Given the description of an element on the screen output the (x, y) to click on. 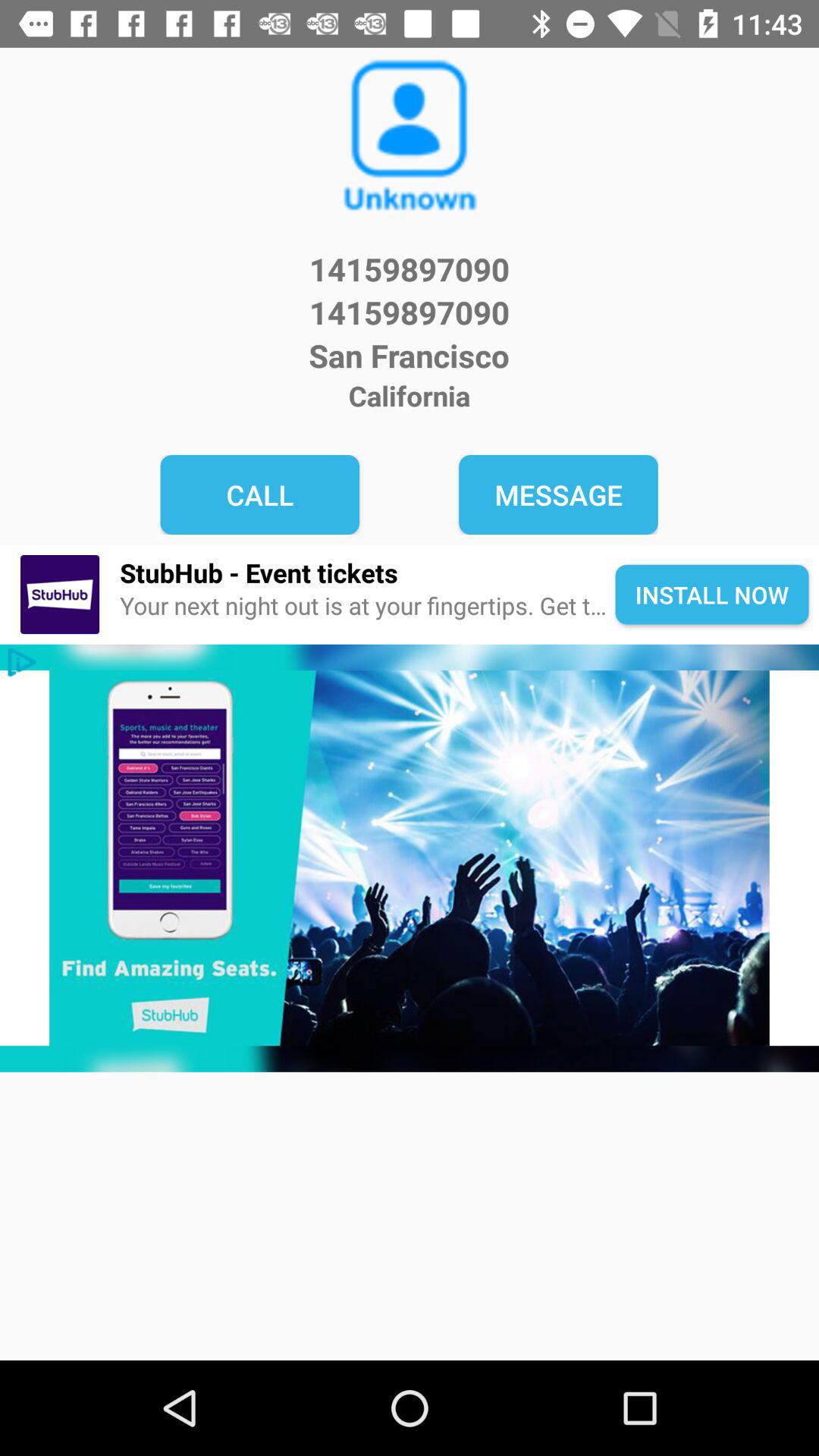
tap the icon to the left of the install now icon (367, 606)
